Given the description of an element on the screen output the (x, y) to click on. 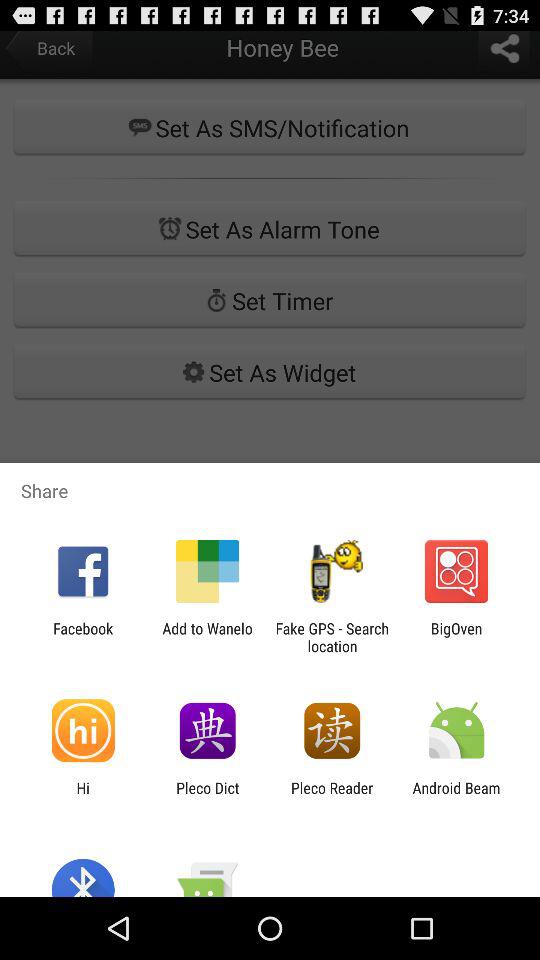
jump to fake gps search item (332, 637)
